Given the description of an element on the screen output the (x, y) to click on. 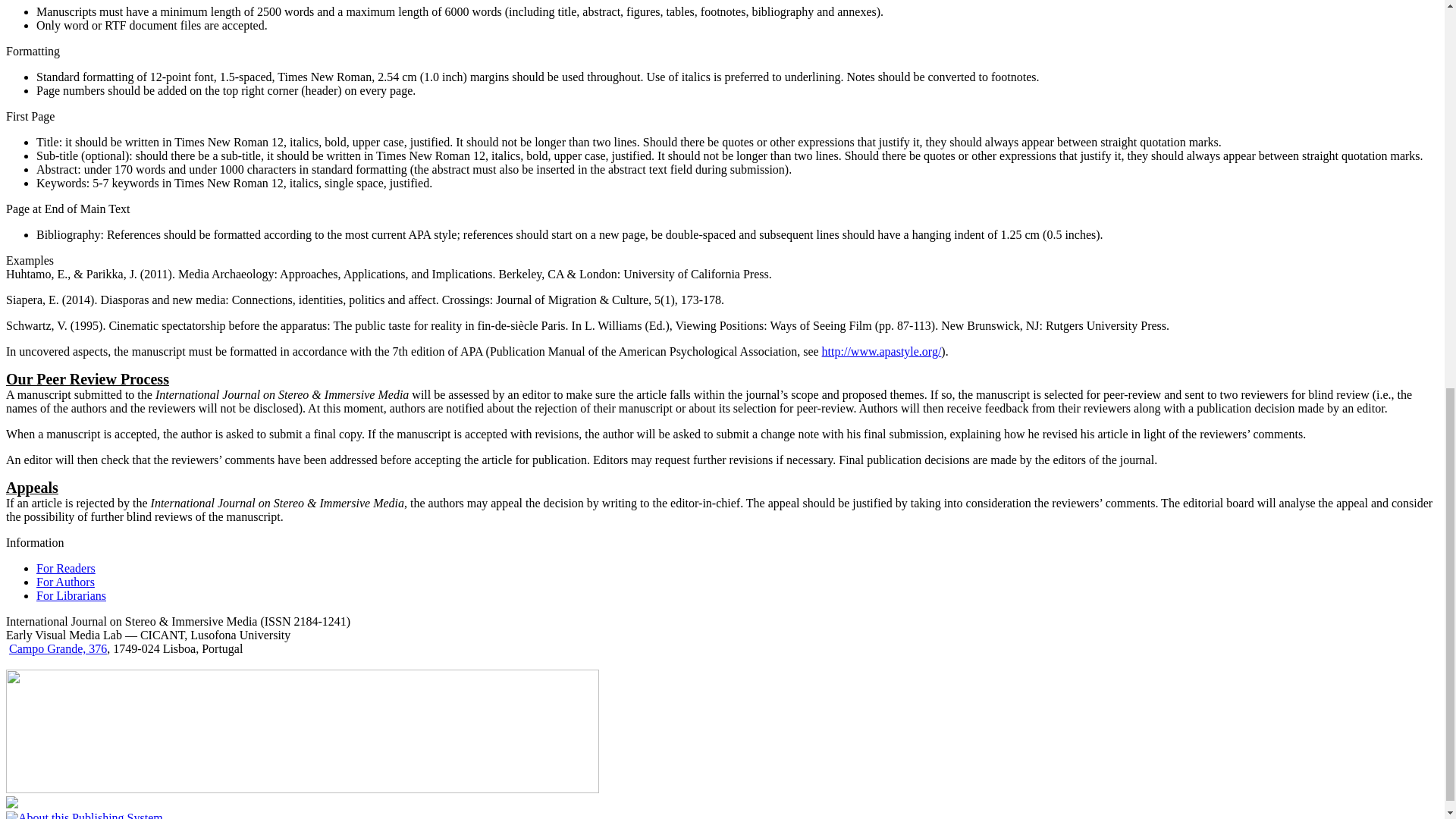
For Readers (66, 567)
For Librarians (71, 594)
For Authors (65, 581)
Campo Grande, 376 (57, 648)
